Given the description of an element on the screen output the (x, y) to click on. 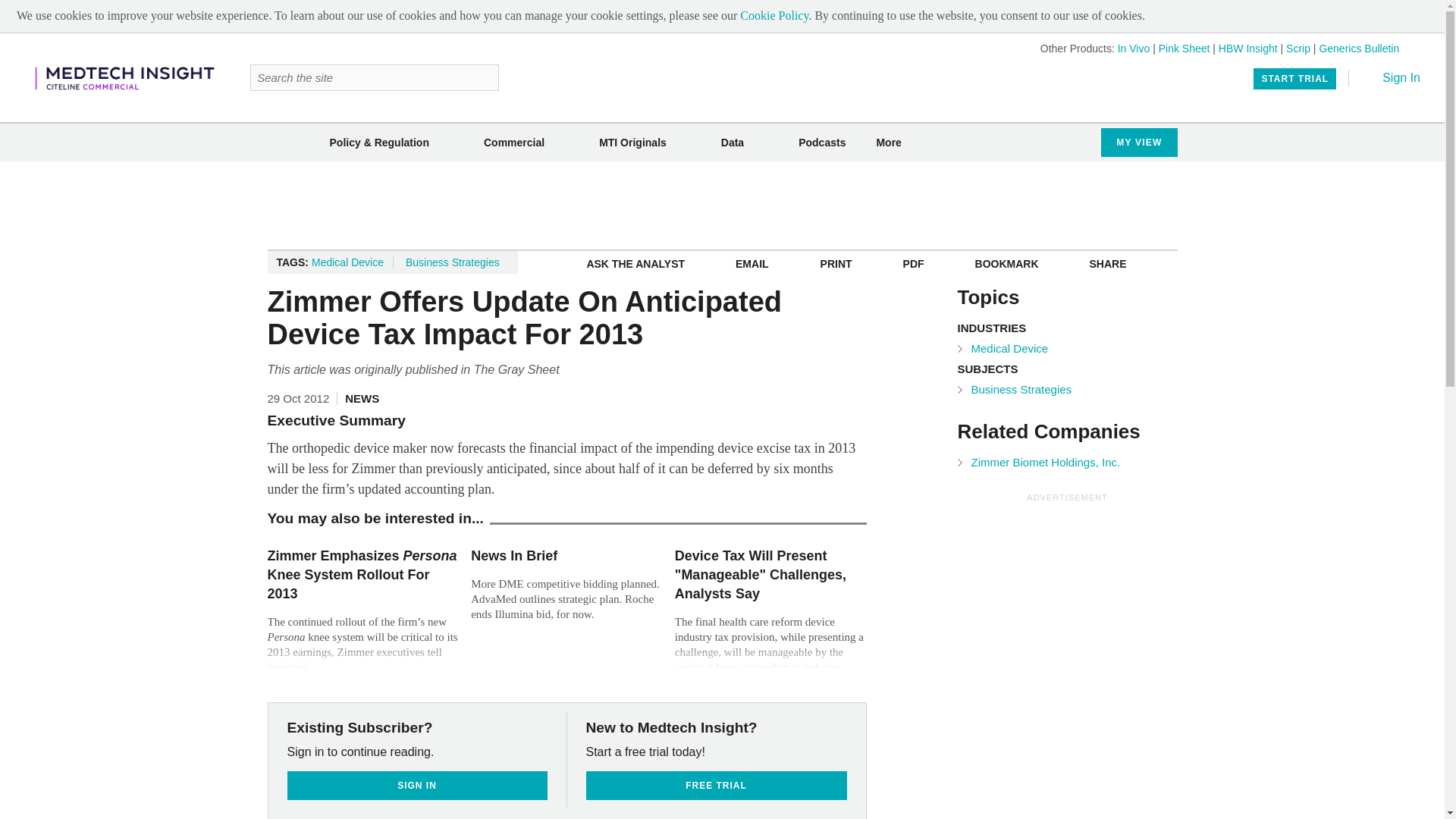
Pink Sheet (1183, 48)
HBW Insight (1248, 48)
3rd party ad content (722, 205)
Cookie Policy (773, 15)
Sign In (1391, 77)
Scrip (1297, 48)
Generics Bulletin (1359, 48)
Commercial (513, 142)
In Vivo (1134, 48)
START TRIAL (1294, 78)
